Given the description of an element on the screen output the (x, y) to click on. 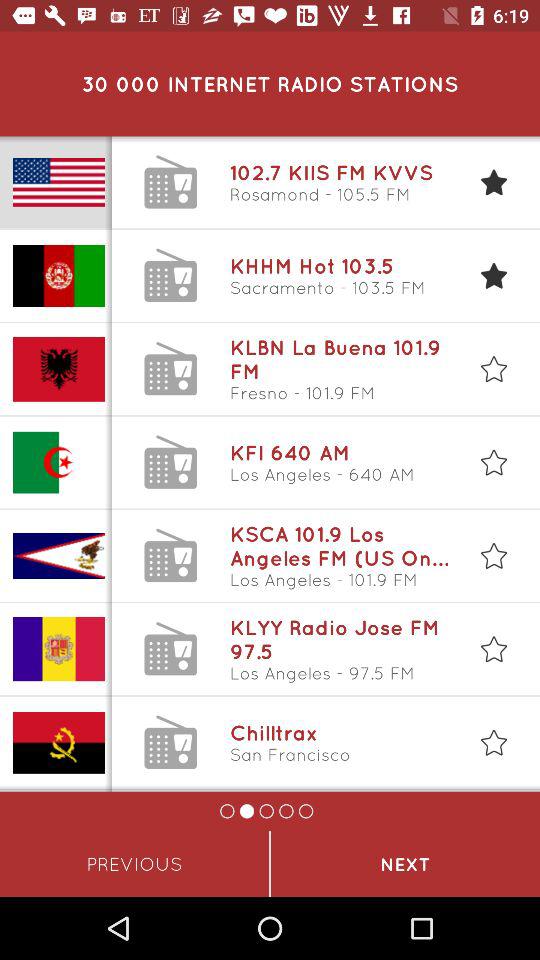
select the last star (494, 742)
select the 4th landline icon (170, 462)
select the star icon present in the 5th row from the top (494, 555)
